Given the description of an element on the screen output the (x, y) to click on. 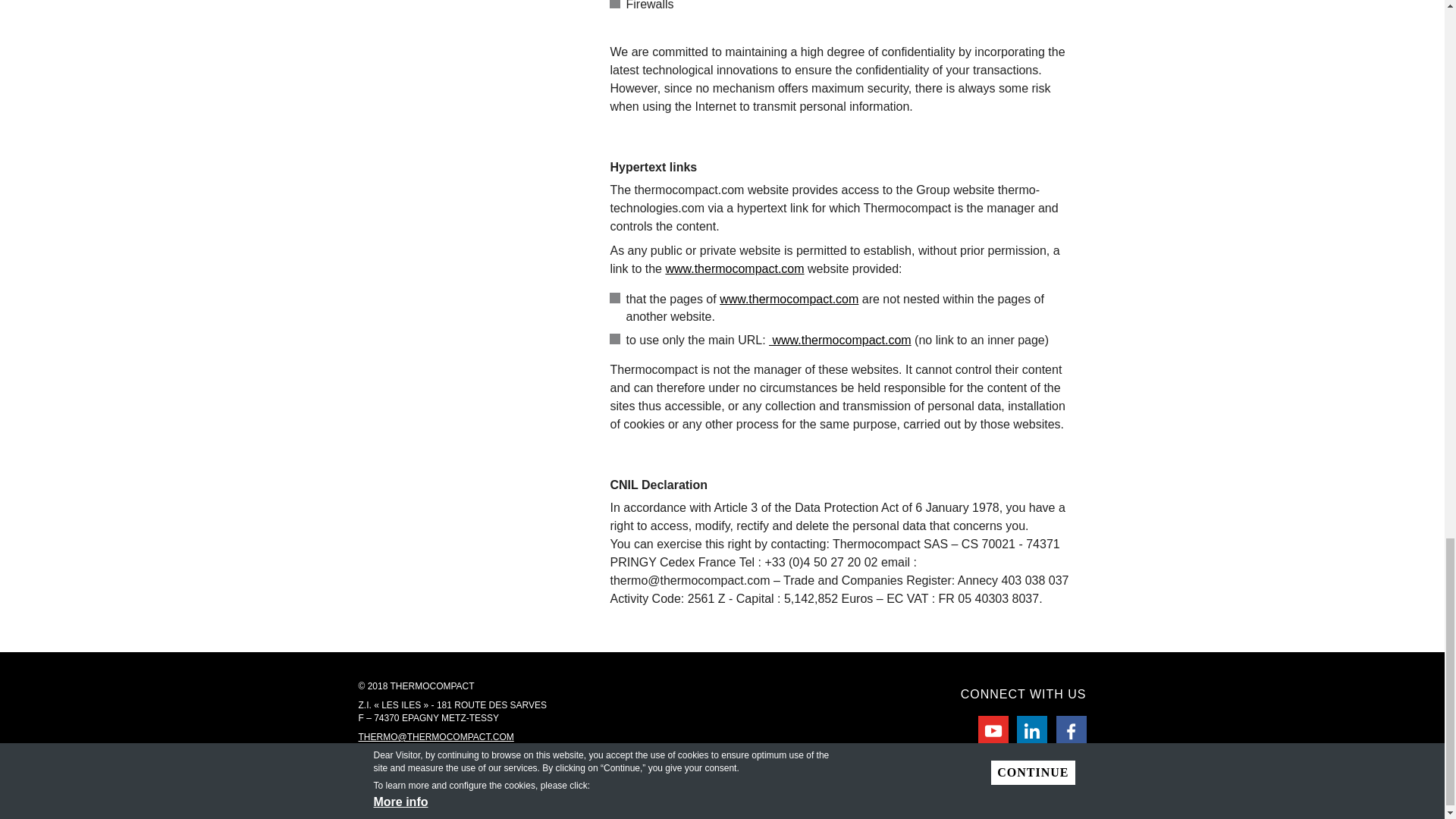
www.thermocompact.com (734, 268)
 www.thermocompact.com (839, 339)
www.thermocompact.com (789, 298)
